Given the description of an element on the screen output the (x, y) to click on. 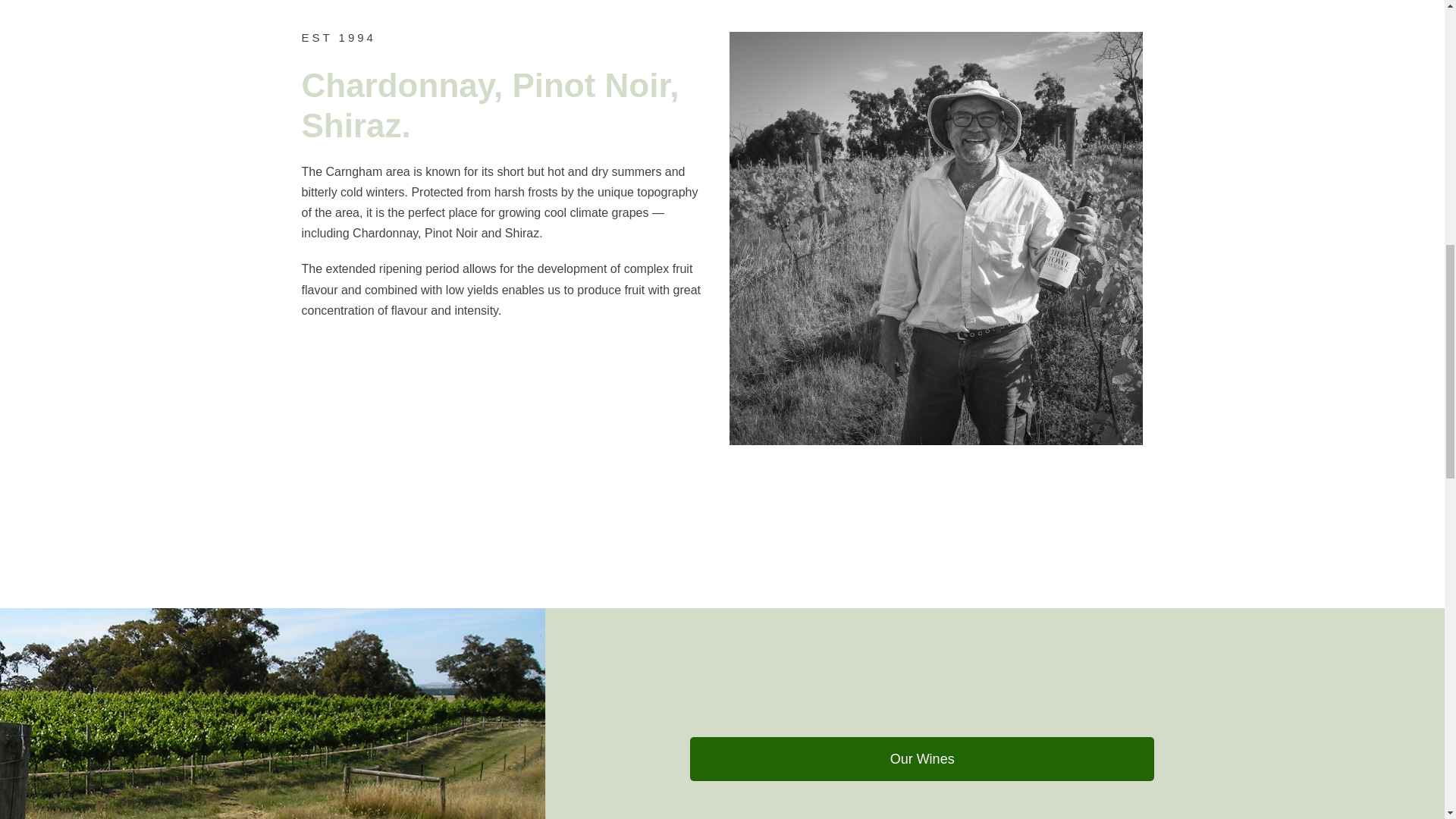
Our Wines (922, 759)
